Given the description of an element on the screen output the (x, y) to click on. 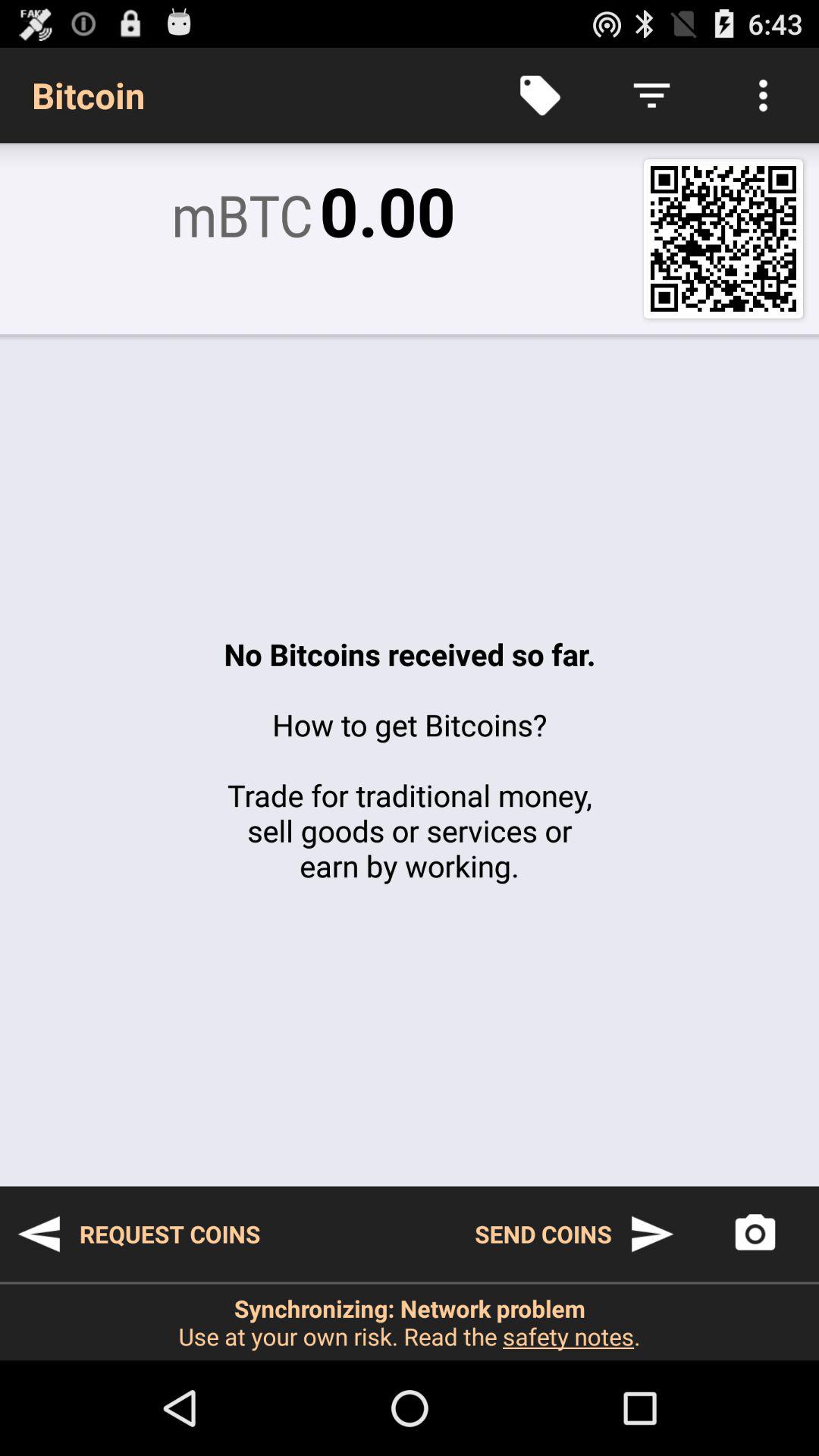
turn on the app above synchronizing network problem item (138, 1233)
